Given the description of an element on the screen output the (x, y) to click on. 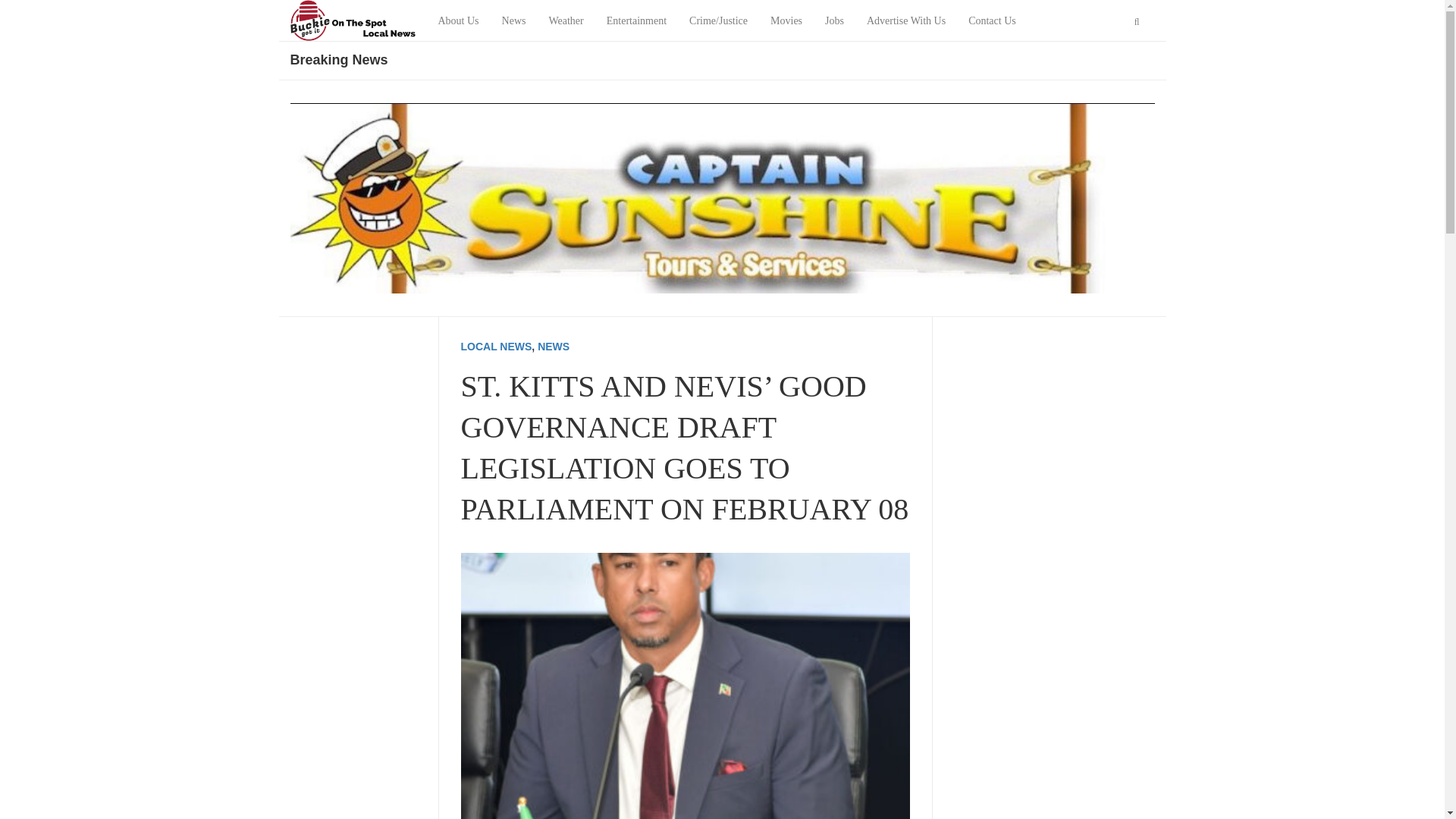
LOCAL NEWS (496, 346)
Entertainment (636, 20)
Contact Us (992, 20)
Advertise With Us (905, 20)
About Us (458, 20)
NEWS (553, 346)
About Us (458, 20)
Contact Us (992, 20)
Advertise With Us (905, 20)
Entertainment (636, 20)
